Given the description of an element on the screen output the (x, y) to click on. 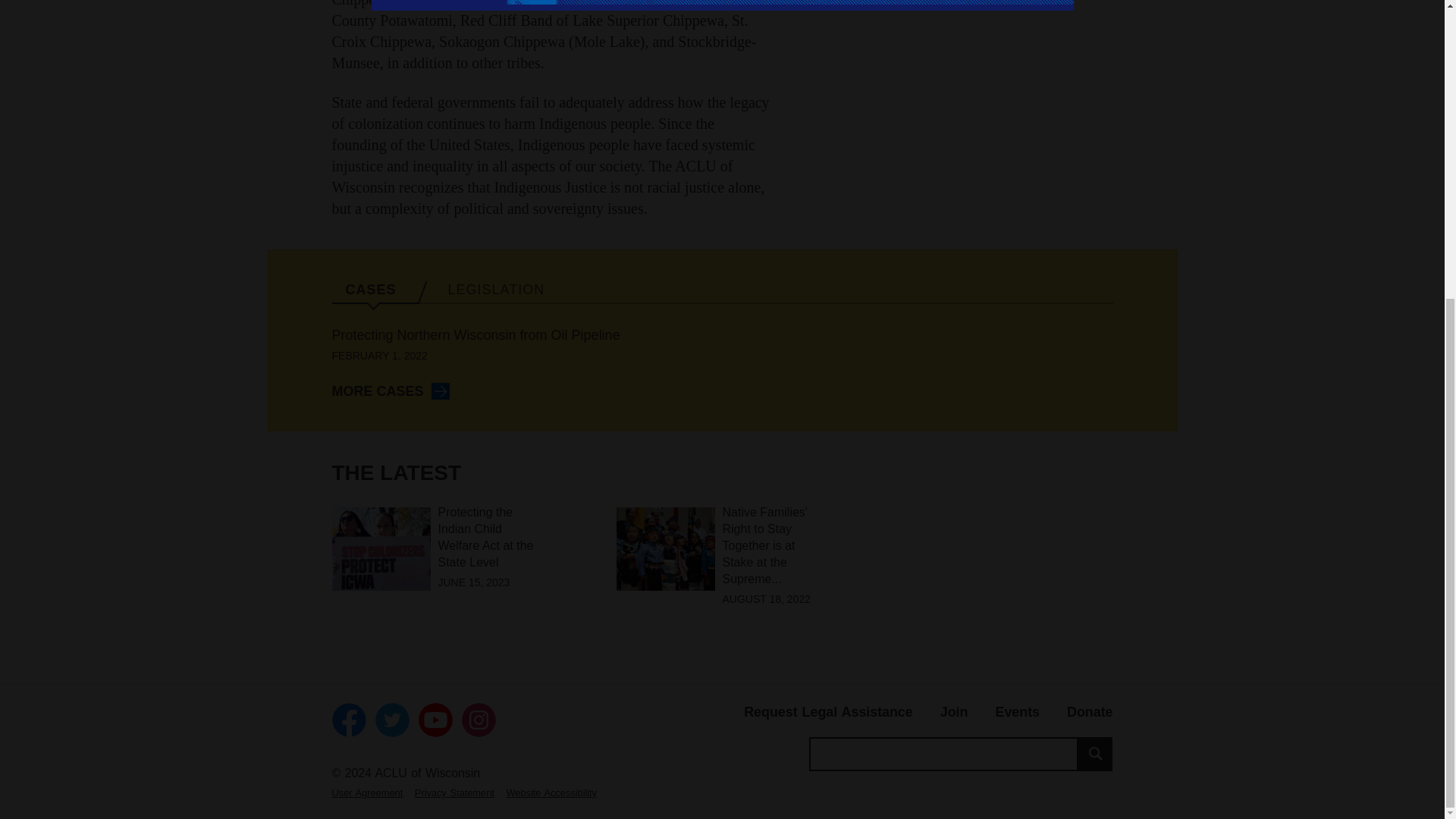
Search (1095, 754)
